Given the description of an element on the screen output the (x, y) to click on. 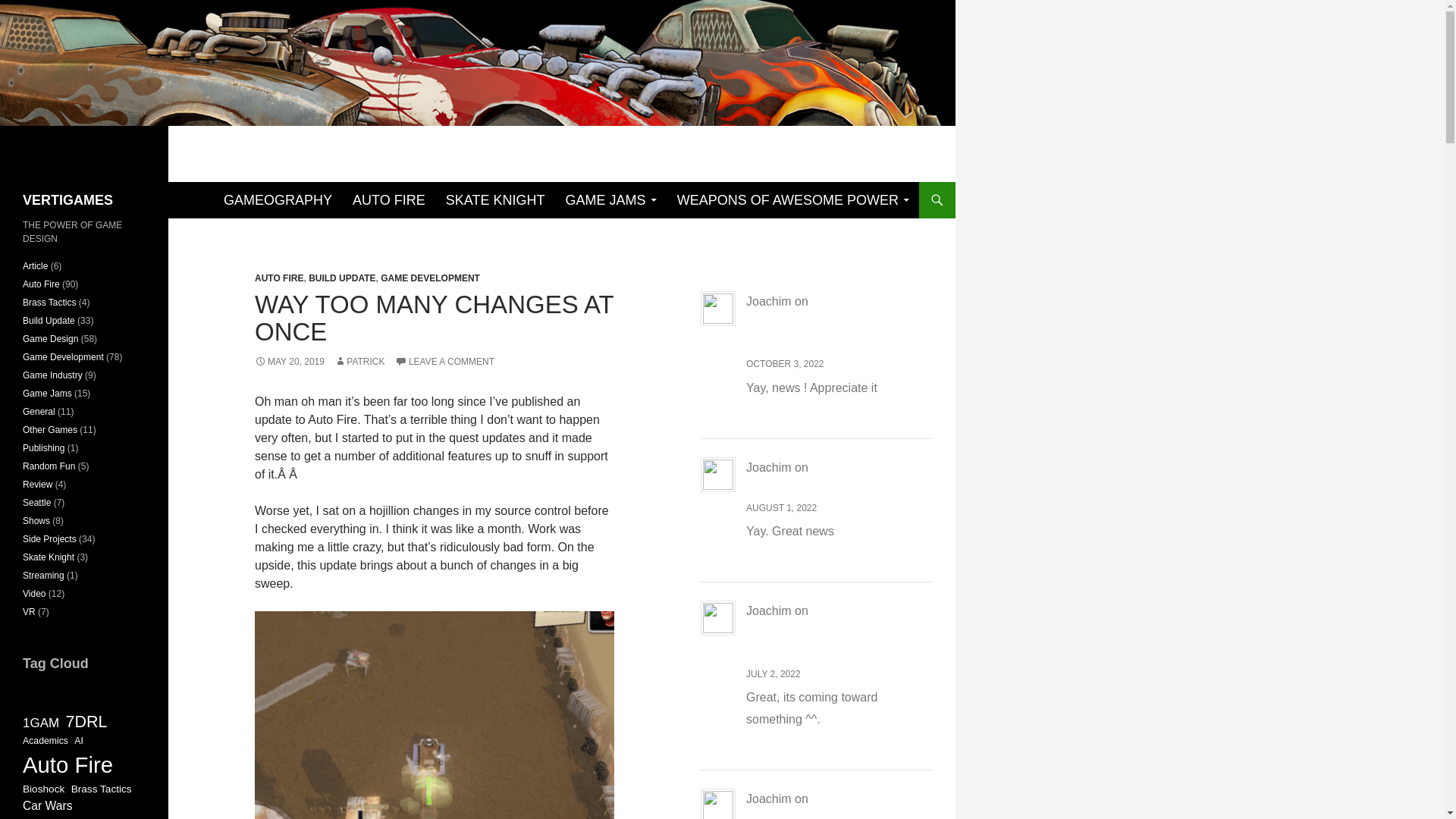
Auto Fire v0.6.55: Citadels and Renown (828, 478)
GAMEOGRAPHY (277, 199)
A Side project to my side project (836, 805)
SKATE KNIGHT (495, 199)
Auto Fire v0.6.61: Citadels, Balance, UI and Optimization (828, 323)
Auto Fire v06.52: Cleaning Up and Paving the Way (837, 632)
WEAPONS OF AWESOME POWER (793, 199)
PATRICK (359, 361)
GAME JAMS (610, 199)
